Given the description of an element on the screen output the (x, y) to click on. 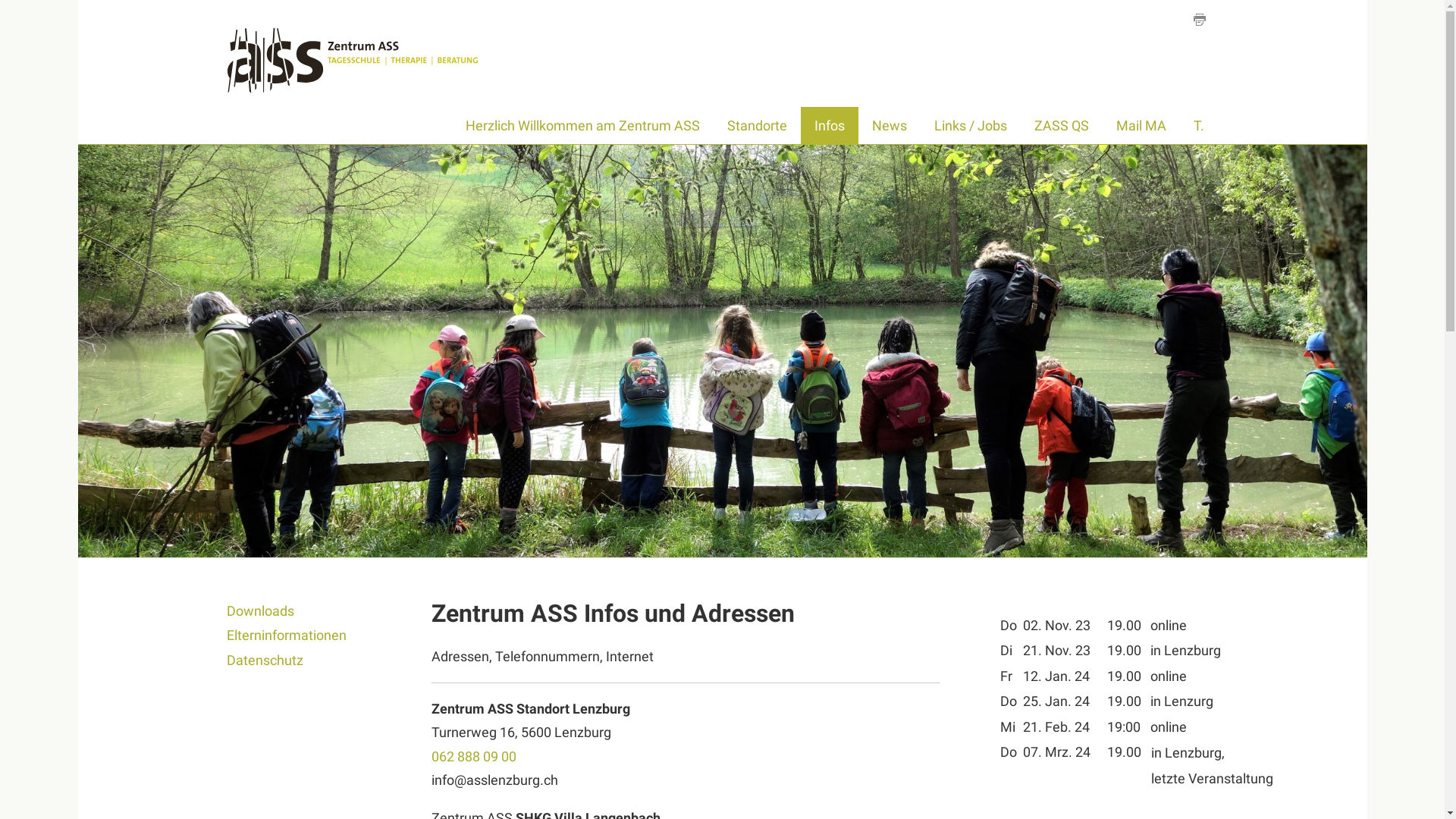
T. Element type: text (1198, 125)
ZASS QS Element type: text (1061, 125)
Standorte Element type: text (756, 125)
062 888 09 00 Element type: text (473, 756)
Elterninformationen Element type: text (295, 635)
Infos Element type: text (829, 125)
Downloads Element type: text (295, 611)
Datenschutz Element type: text (295, 659)
Herzlich Willkommen am Zentrum ASS Element type: text (582, 125)
Mail MA Element type: text (1140, 125)
Links / Jobs Element type: text (970, 125)
News Element type: text (889, 125)
